Given the description of an element on the screen output the (x, y) to click on. 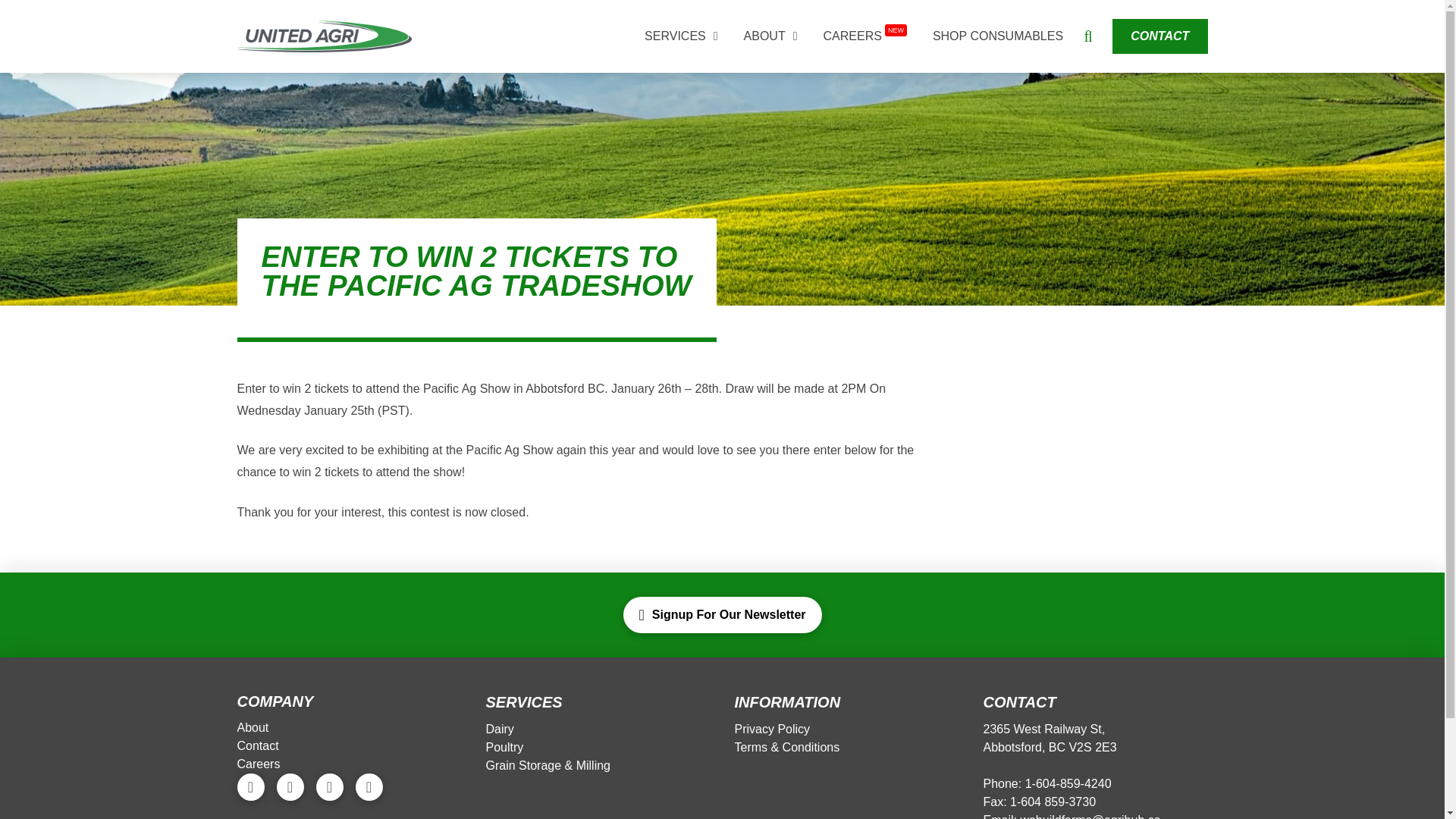
Dairy (500, 729)
Careers (258, 764)
Signup For Our Newsletter (722, 615)
SERVICES (680, 36)
CAREERSNEW (865, 36)
ABOUT (770, 36)
Privacy Policy (772, 729)
SHOP CONSUMABLES (997, 36)
Poultry (504, 747)
Contact (258, 746)
